Given the description of an element on the screen output the (x, y) to click on. 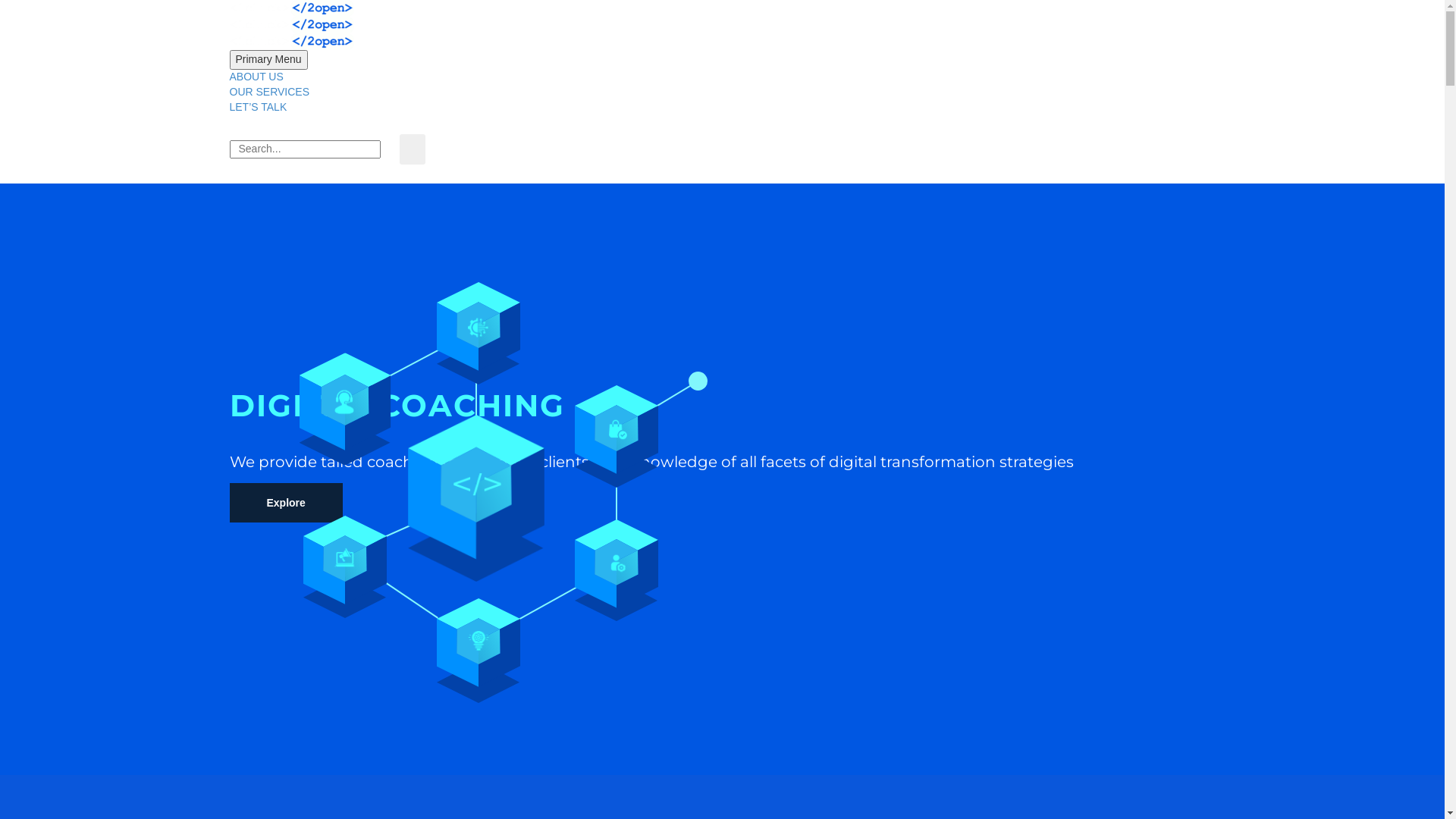
ABOUT US Element type: text (255, 76)
Primary Menu Element type: text (268, 59)
OUR SERVICES Element type: text (269, 91)
Explore Element type: text (285, 502)
